Given the description of an element on the screen output the (x, y) to click on. 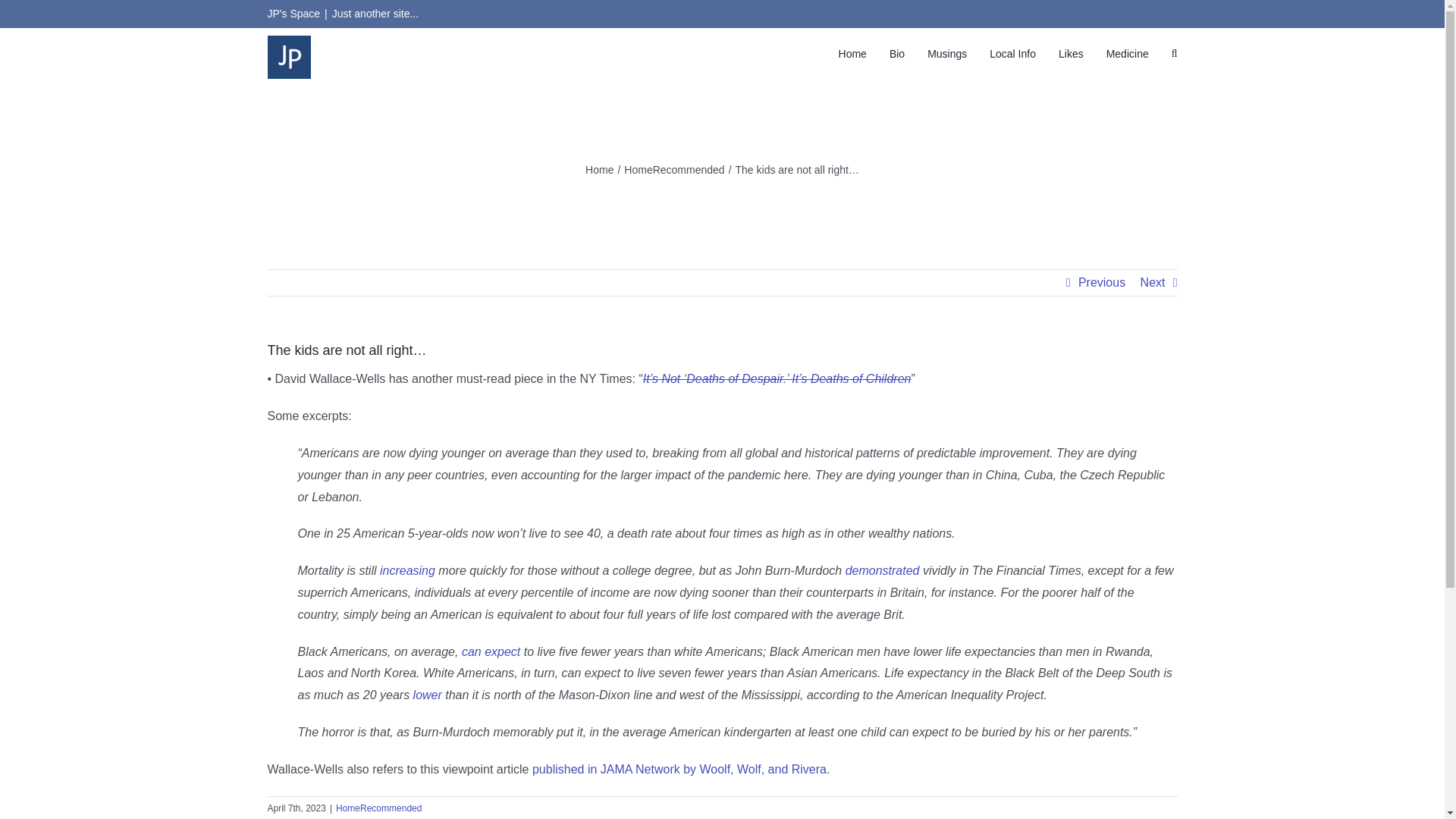
Just another site... (375, 13)
Next (1153, 282)
published in JAMA Network by Woolf, Wolf, and Rivera. (680, 768)
increasing (407, 570)
Home (598, 169)
HomeRecommended (673, 169)
Previous (1101, 282)
can expect (490, 651)
demonstrated (882, 570)
Local Info (1012, 52)
